Given the description of an element on the screen output the (x, y) to click on. 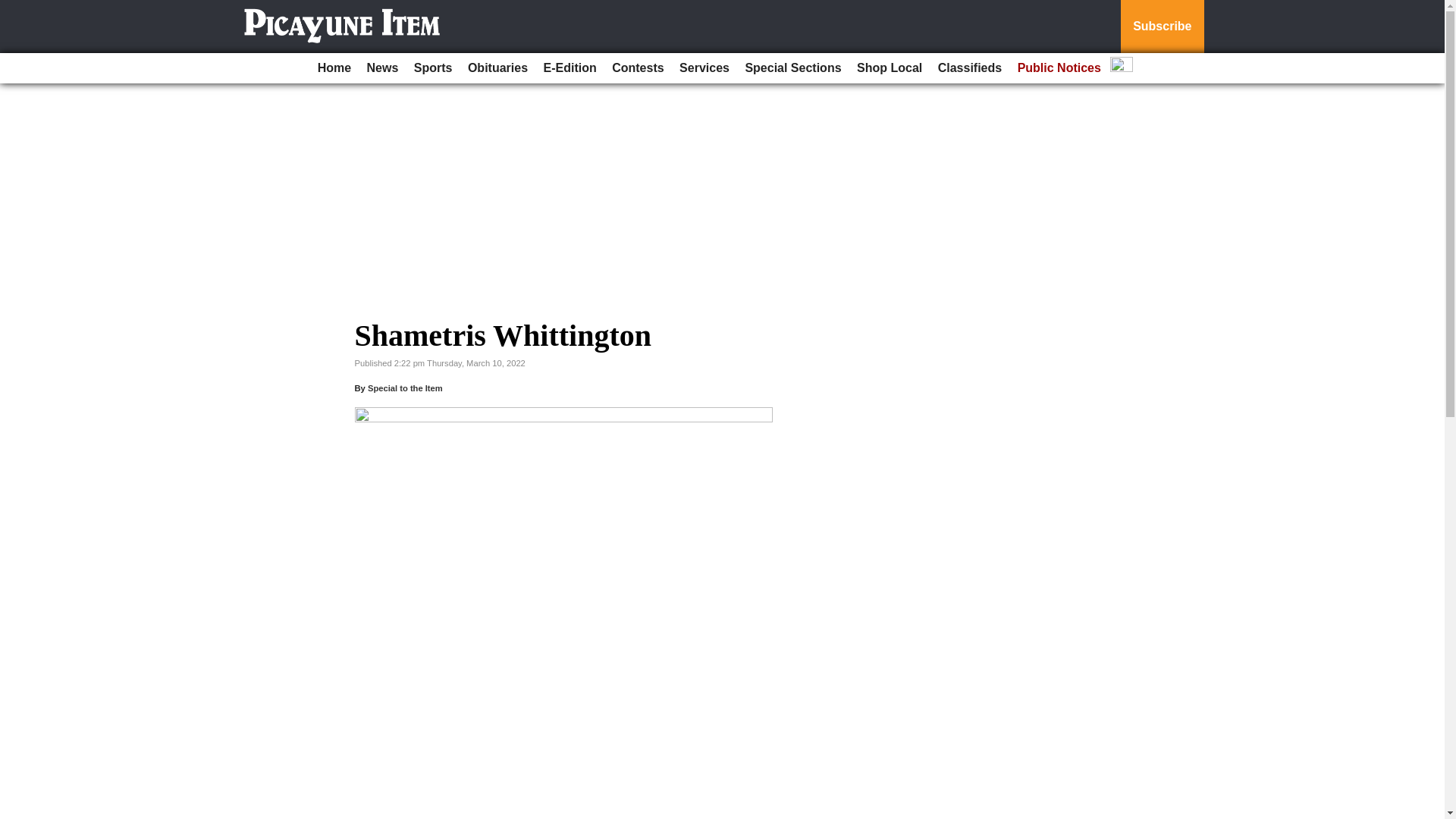
Classifieds (969, 68)
E-Edition (569, 68)
Services (703, 68)
Sports (432, 68)
Go (13, 9)
Public Notices (1058, 68)
Subscribe (1162, 26)
Contests (637, 68)
News (382, 68)
Shop Local (889, 68)
